Given the description of an element on the screen output the (x, y) to click on. 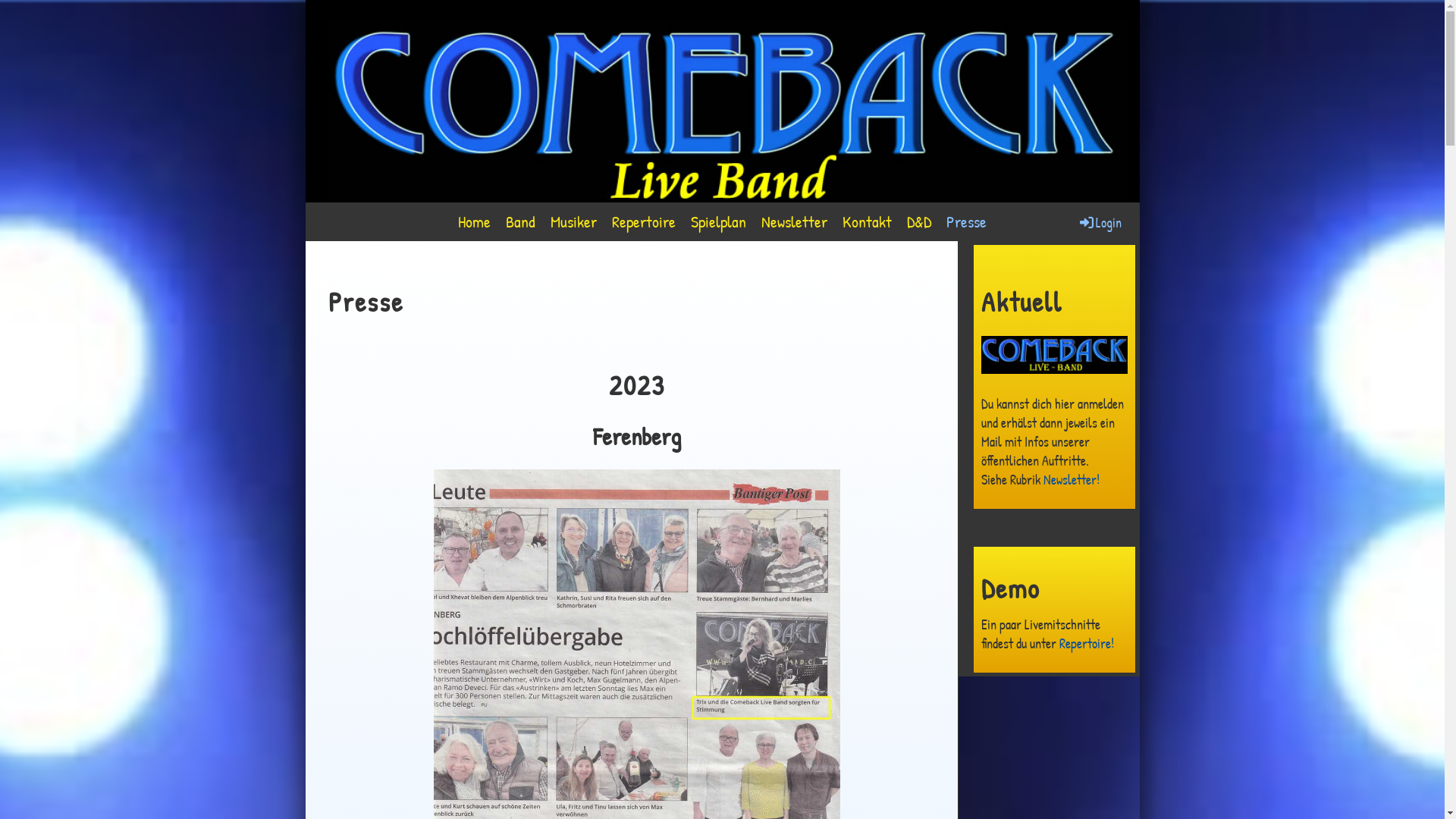
Band Element type: text (520, 221)
Home Element type: text (474, 221)
Login Element type: text (1098, 222)
Kontakt Element type: text (866, 221)
Repertoire Element type: text (643, 221)
Presse Element type: text (966, 221)
Repertoire! Element type: text (1085, 642)
Musiker Element type: text (573, 221)
D&D Element type: text (918, 221)
Newsletter Element type: text (793, 221)
Newsletter! Element type: text (1071, 479)
Spielplan Element type: text (718, 221)
